Given the description of an element on the screen output the (x, y) to click on. 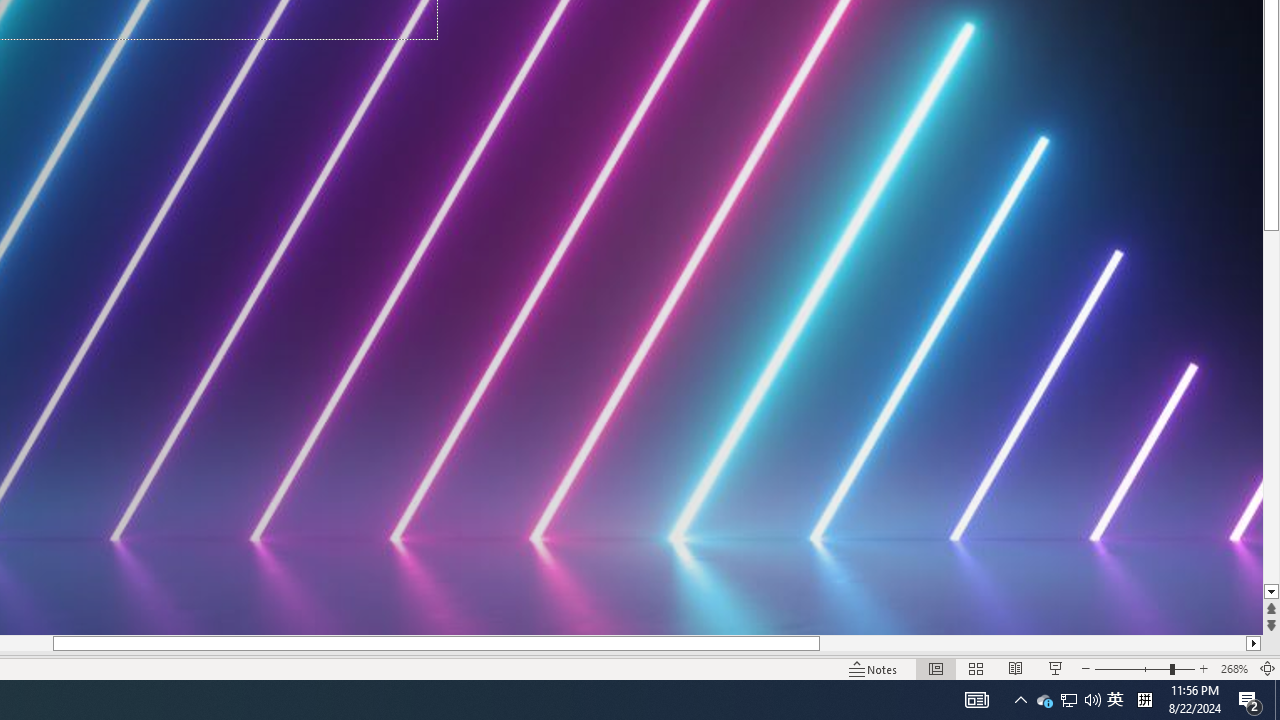
Zoom 268% (1234, 668)
